Given the description of an element on the screen output the (x, y) to click on. 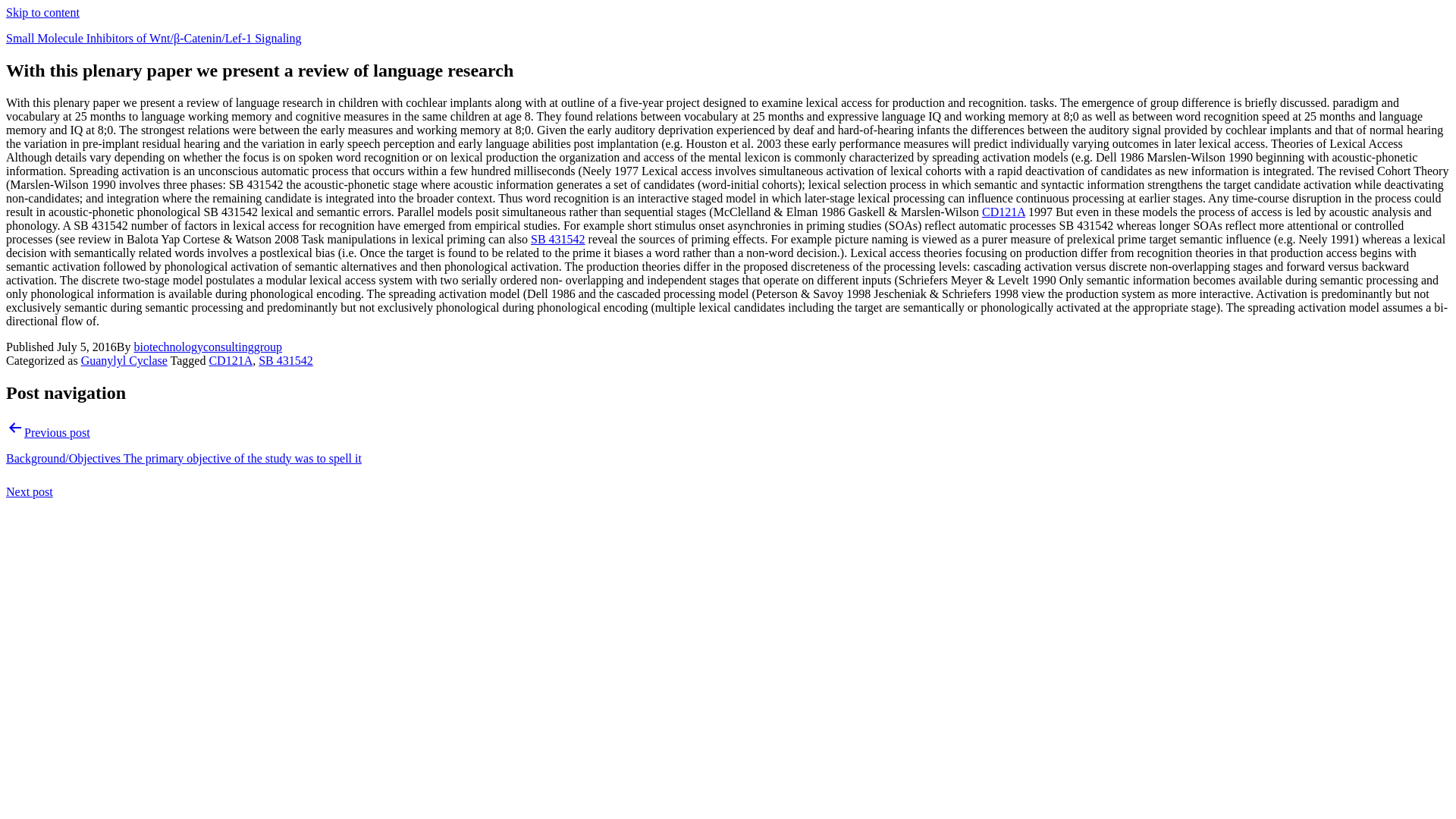
CD121A (1003, 211)
SB 431542 (286, 359)
Guanylyl Cyclase (124, 359)
SB 431542 (558, 238)
CD121A (229, 359)
biotechnologyconsultinggroup (207, 346)
Skip to content (42, 11)
